Given the description of an element on the screen output the (x, y) to click on. 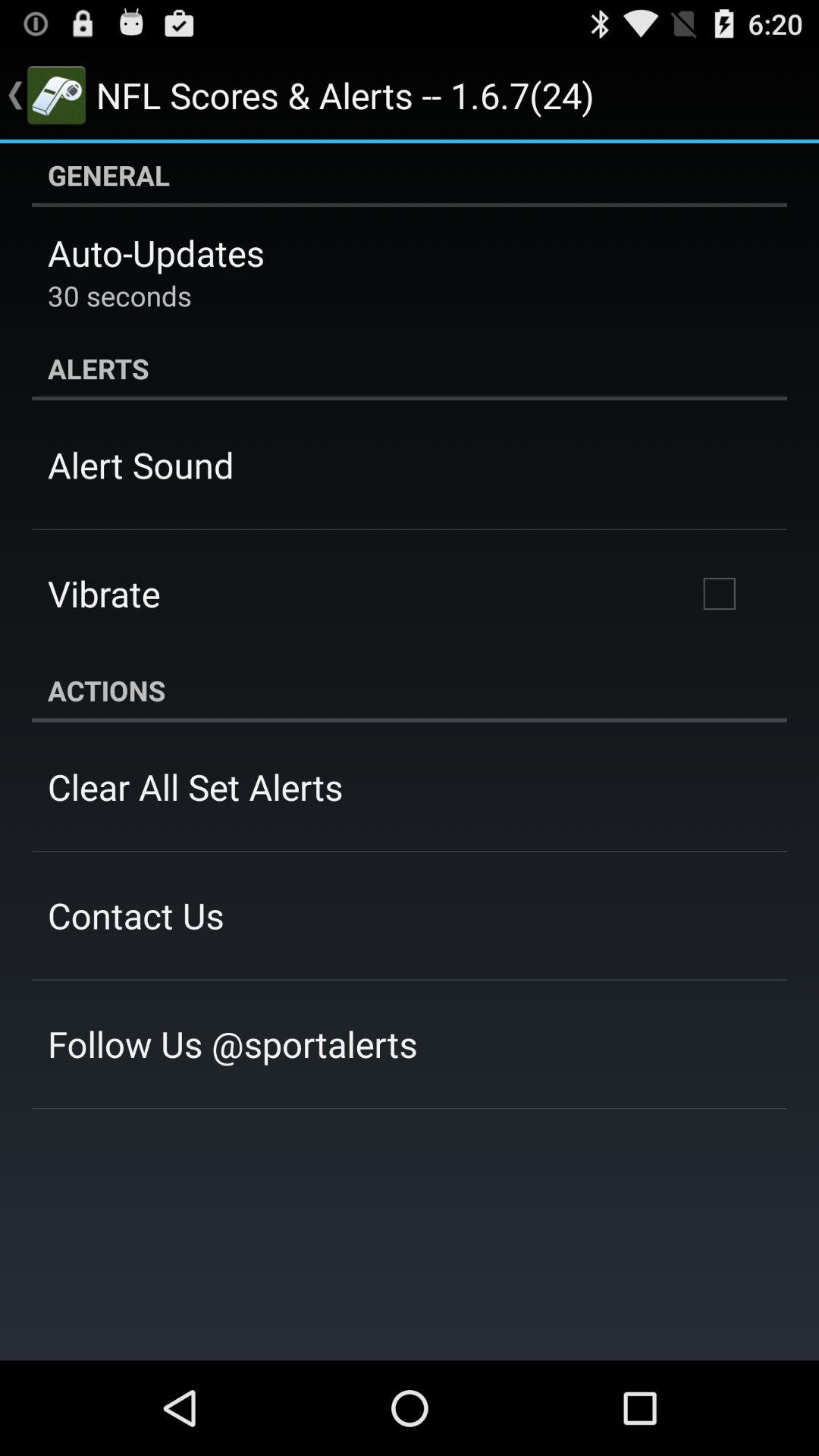
flip to the actions app (409, 690)
